Given the description of an element on the screen output the (x, y) to click on. 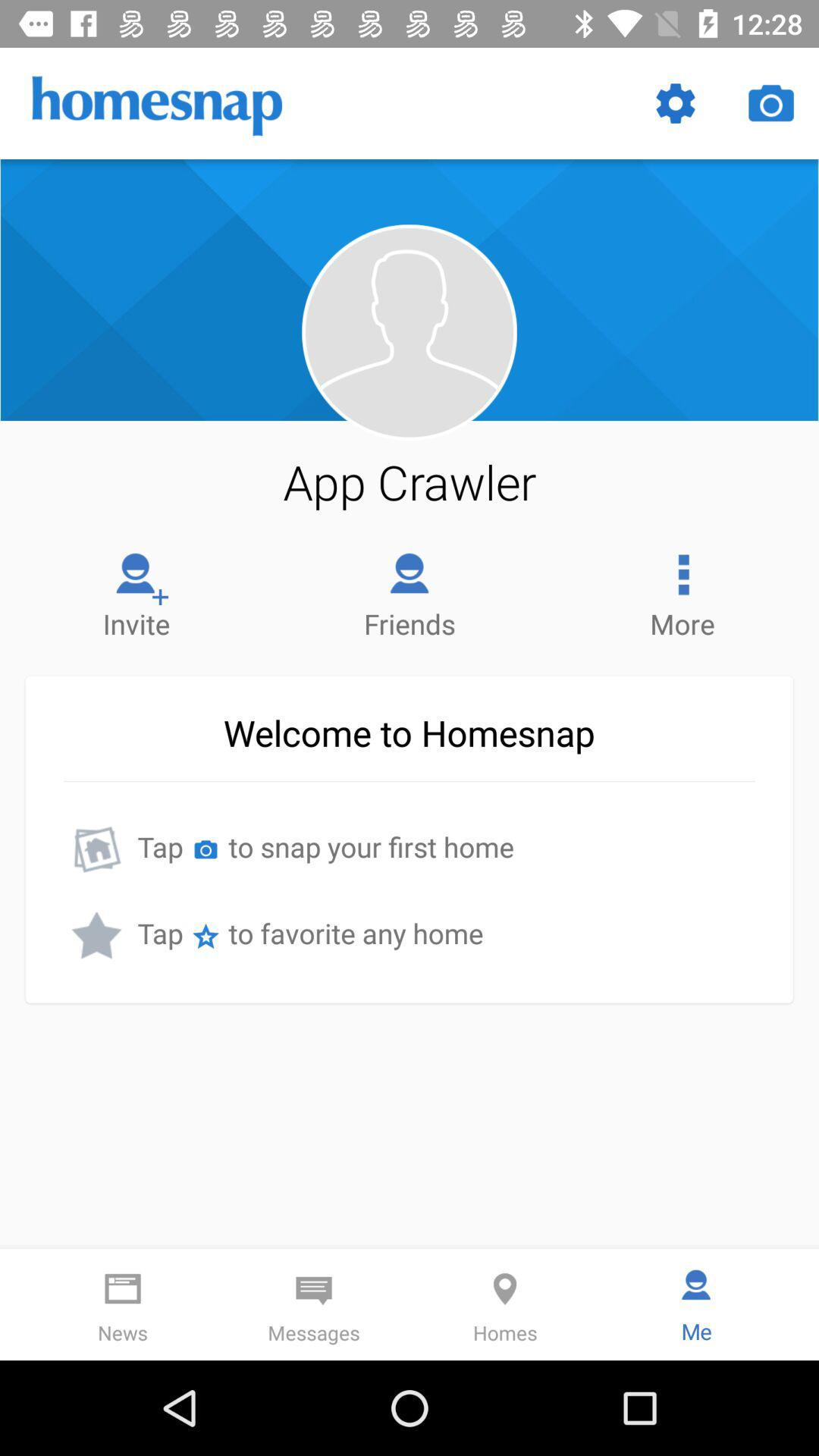
press the item next to friends (136, 591)
